Given the description of an element on the screen output the (x, y) to click on. 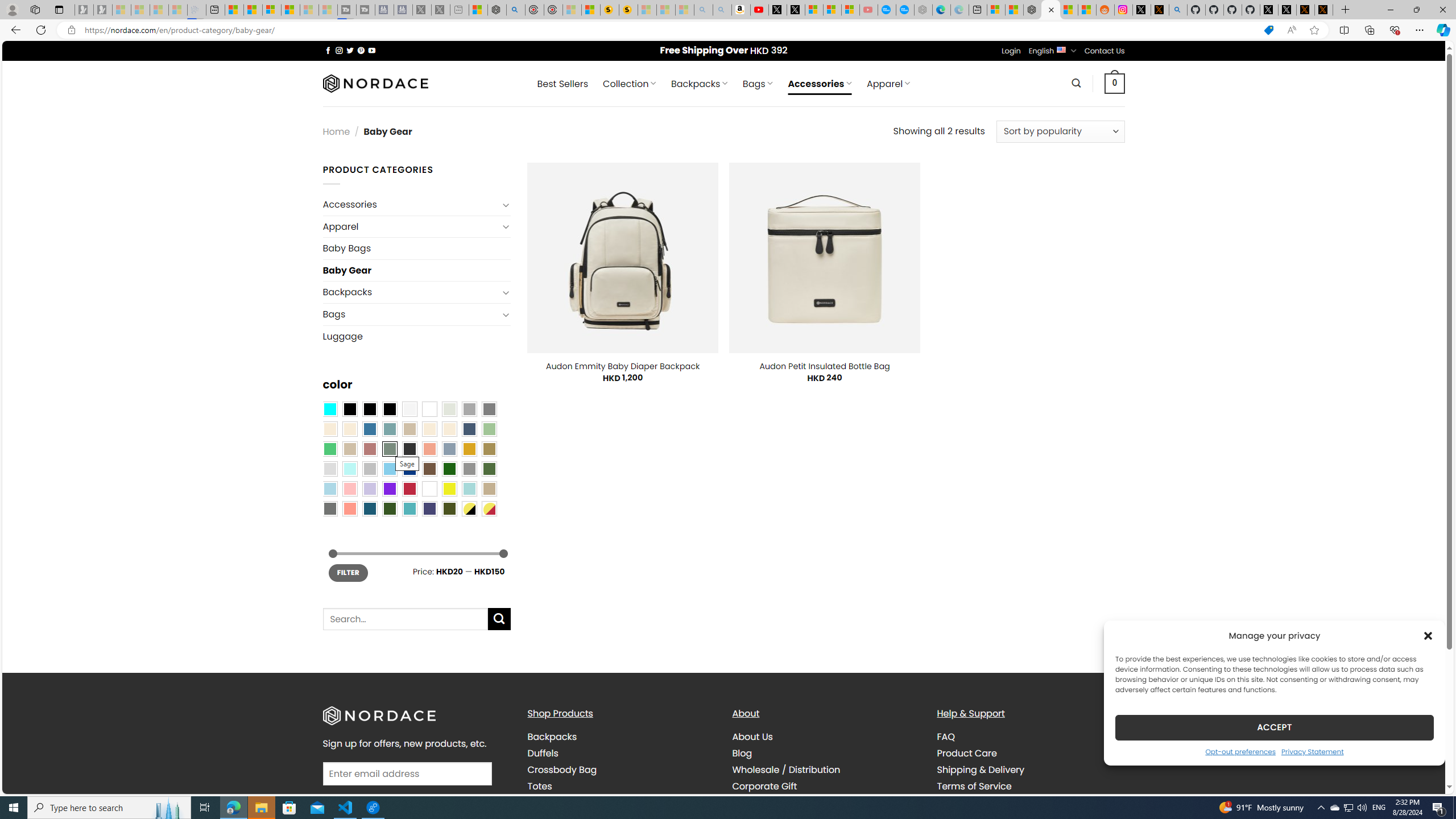
GitHub (@github) / X (1287, 9)
Hale Navy (468, 428)
Opt-out preferences (1240, 750)
ACCEPT (1274, 727)
